Given the description of an element on the screen output the (x, y) to click on. 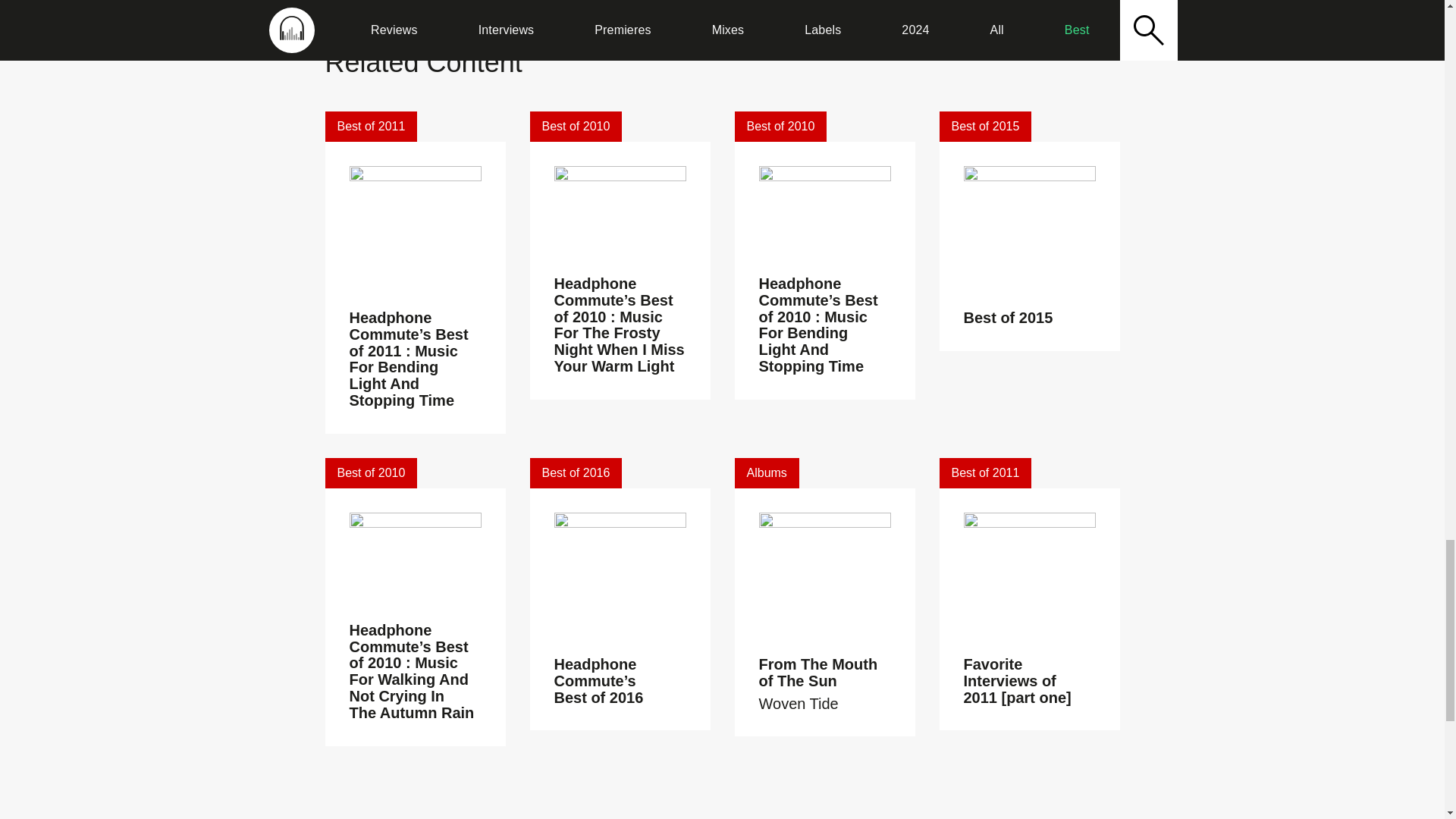
Best of 2011 (370, 126)
Best of 2010 (575, 126)
